Given the description of an element on the screen output the (x, y) to click on. 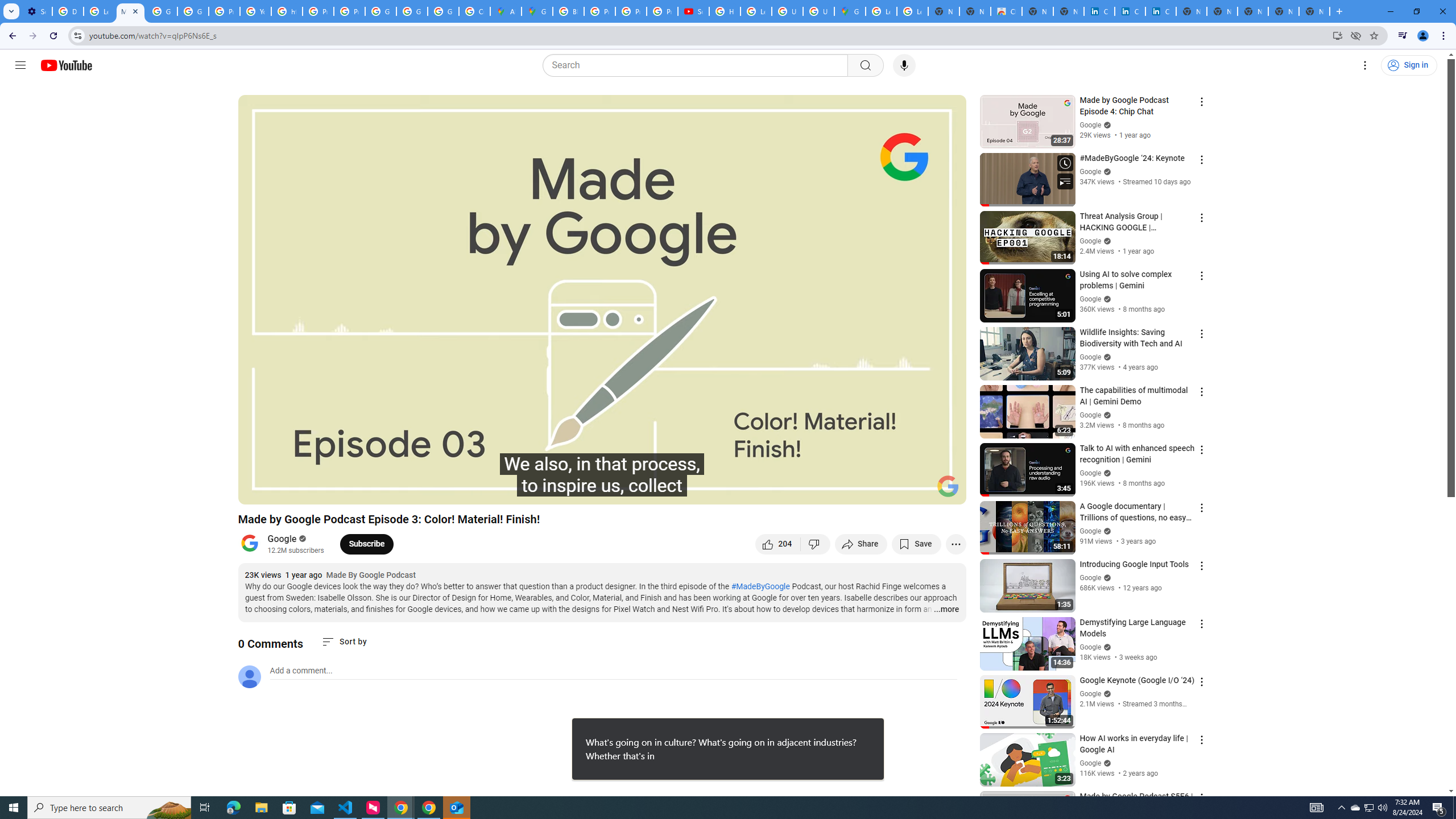
Cookie Policy | LinkedIn (1129, 11)
Install YouTube (1336, 35)
...more (946, 609)
Guide (20, 65)
Create your Google Account (474, 11)
Blogger Policies and Guidelines - Transparency Center (568, 11)
Copyright Policy (1160, 11)
Channel watermark (947, 486)
